Given the description of an element on the screen output the (x, y) to click on. 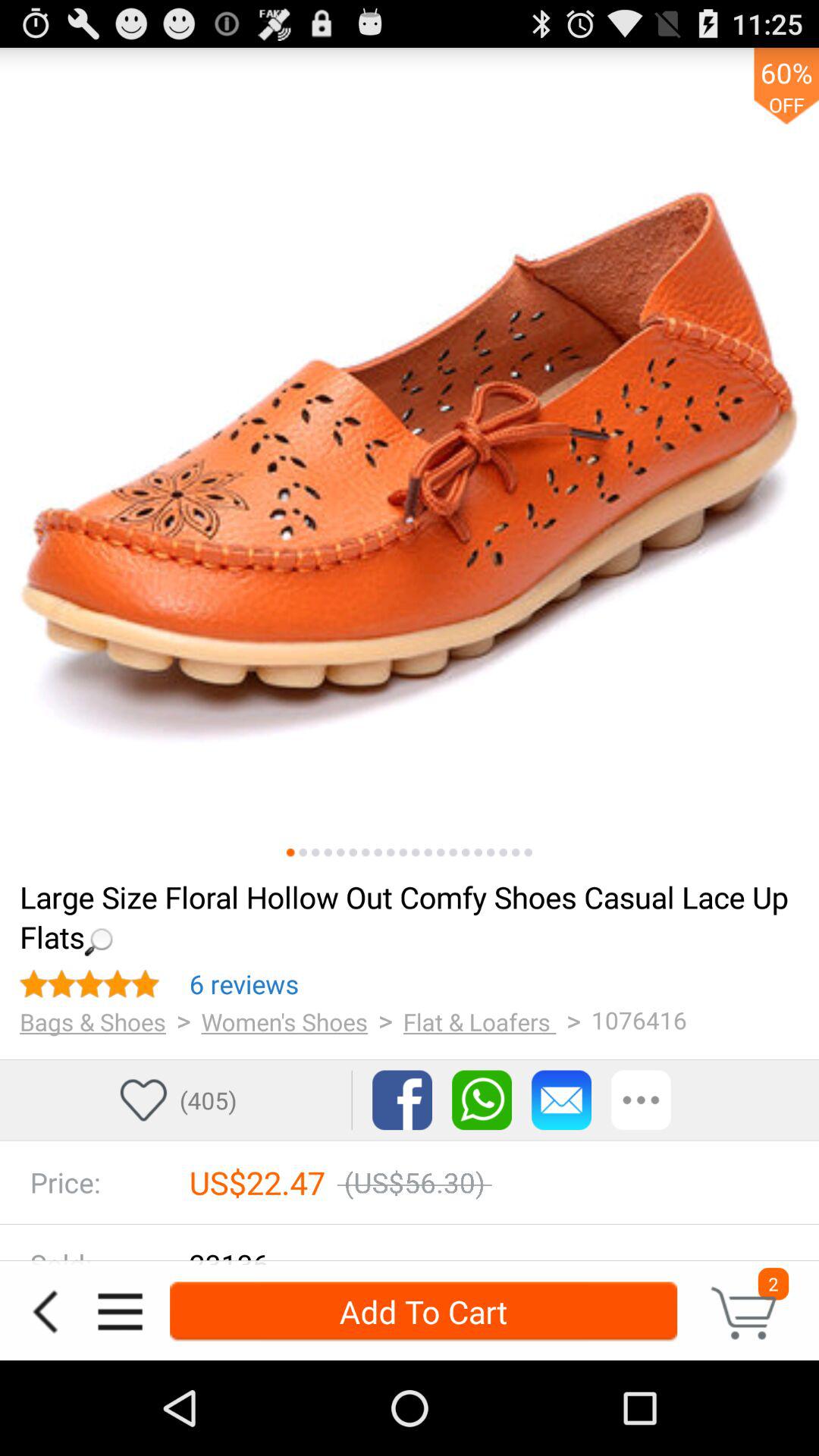
toggle to facebook (402, 1100)
